Given the description of an element on the screen output the (x, y) to click on. 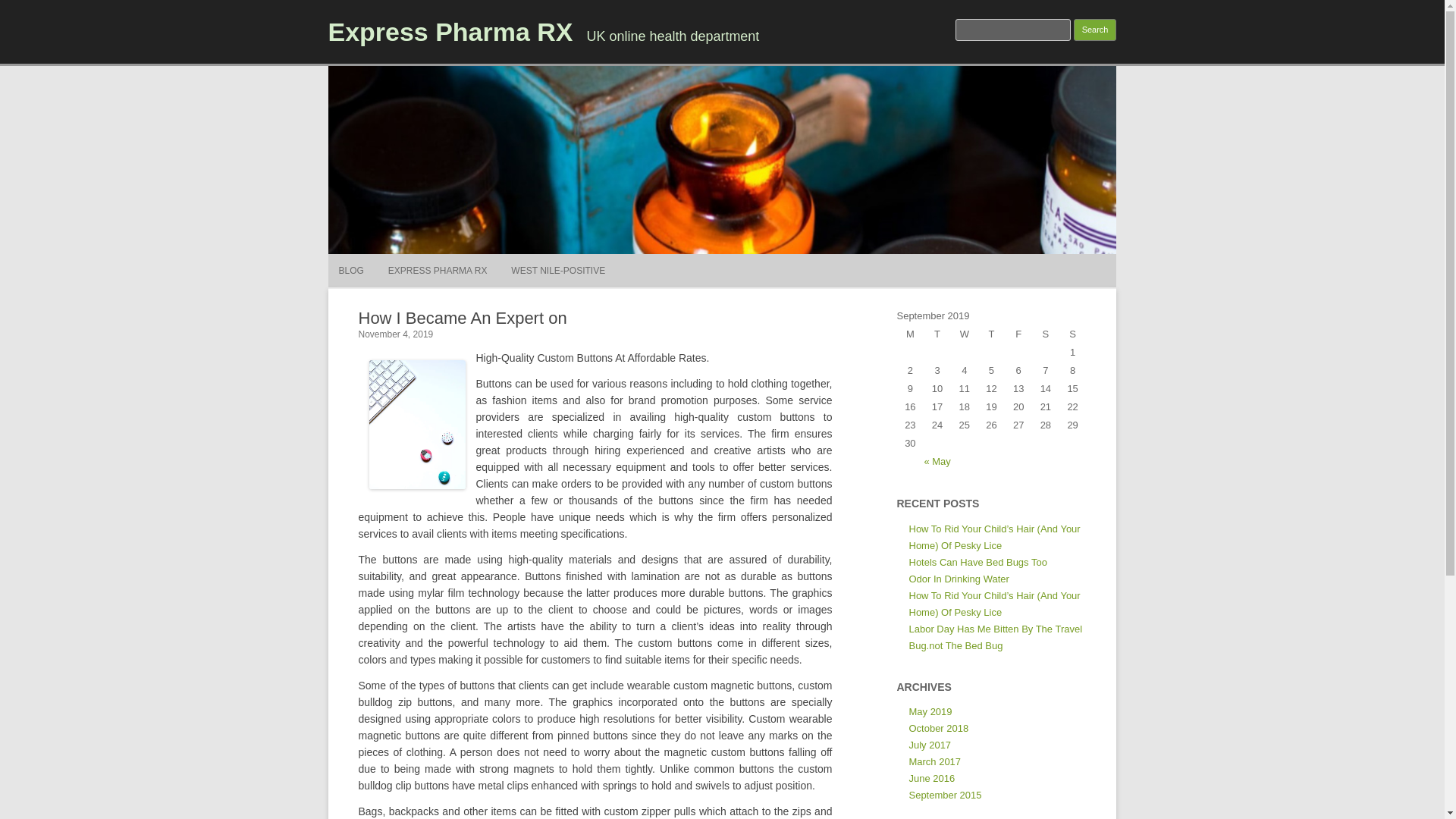
Sunday (1072, 334)
Hotels Can Have Bed Bugs Too (977, 562)
10:18 am (395, 334)
WEST NILE-POSITIVE (558, 270)
May 2019 (930, 711)
Skip to content (757, 258)
Labor Day Has Me Bitten By The Travel Bug.not The Bed Bug (994, 637)
Search (1095, 29)
Thursday (992, 334)
September 2015 (944, 794)
